Given the description of an element on the screen output the (x, y) to click on. 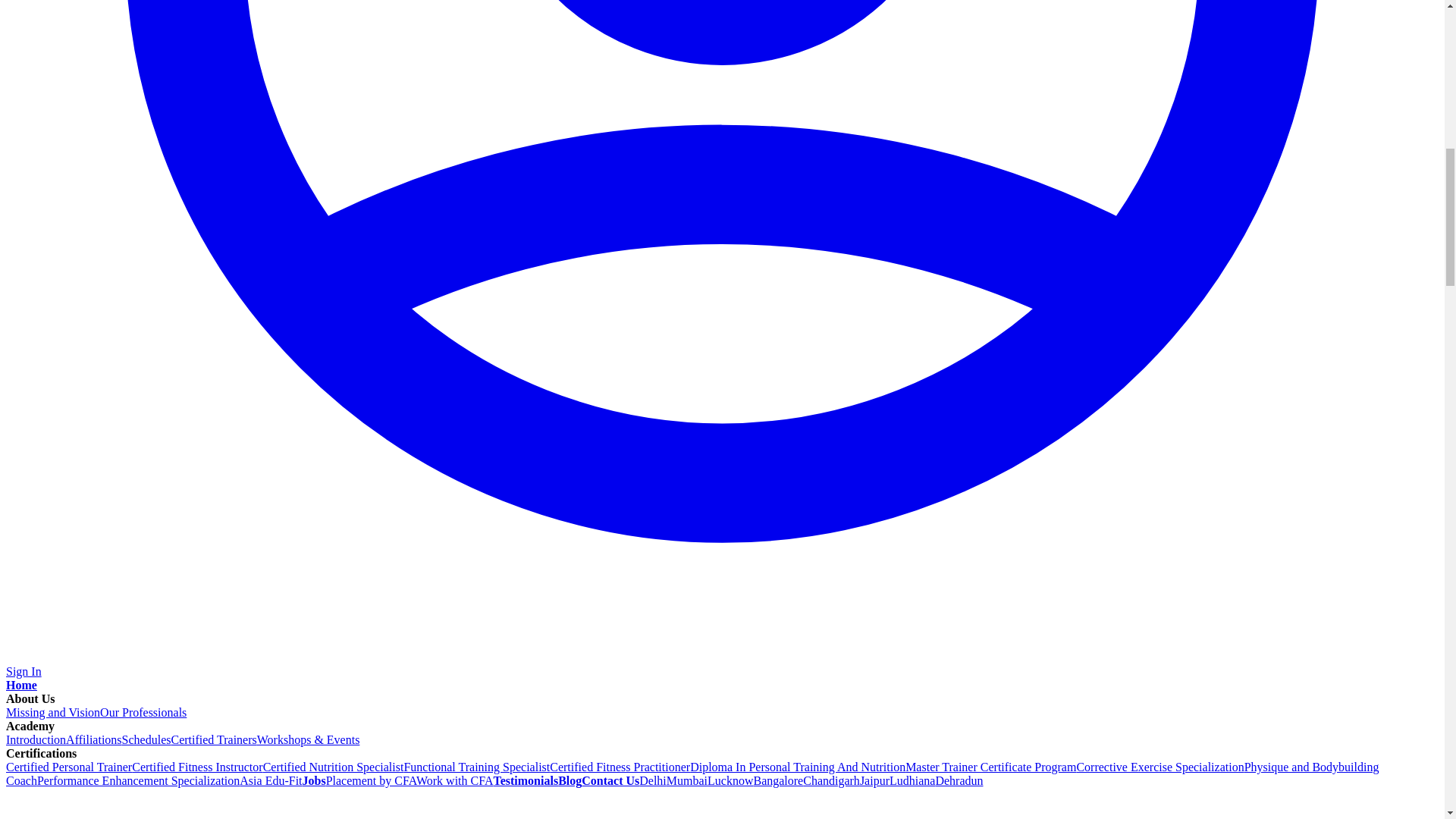
Bangalore (777, 780)
Certified Fitness Practitioner (620, 766)
Dehradun (958, 780)
Jaipur (874, 780)
Chandigarh (831, 780)
Lucknow (729, 780)
Contact Us (609, 780)
Introduction (35, 739)
Certified Trainers (213, 739)
Functional Training Specialist (476, 766)
Master Trainer Certificate Program (990, 766)
Testimonials (525, 780)
Missing and Vision (52, 712)
Our Professionals (143, 712)
Ludhiana (911, 780)
